Given the description of an element on the screen output the (x, y) to click on. 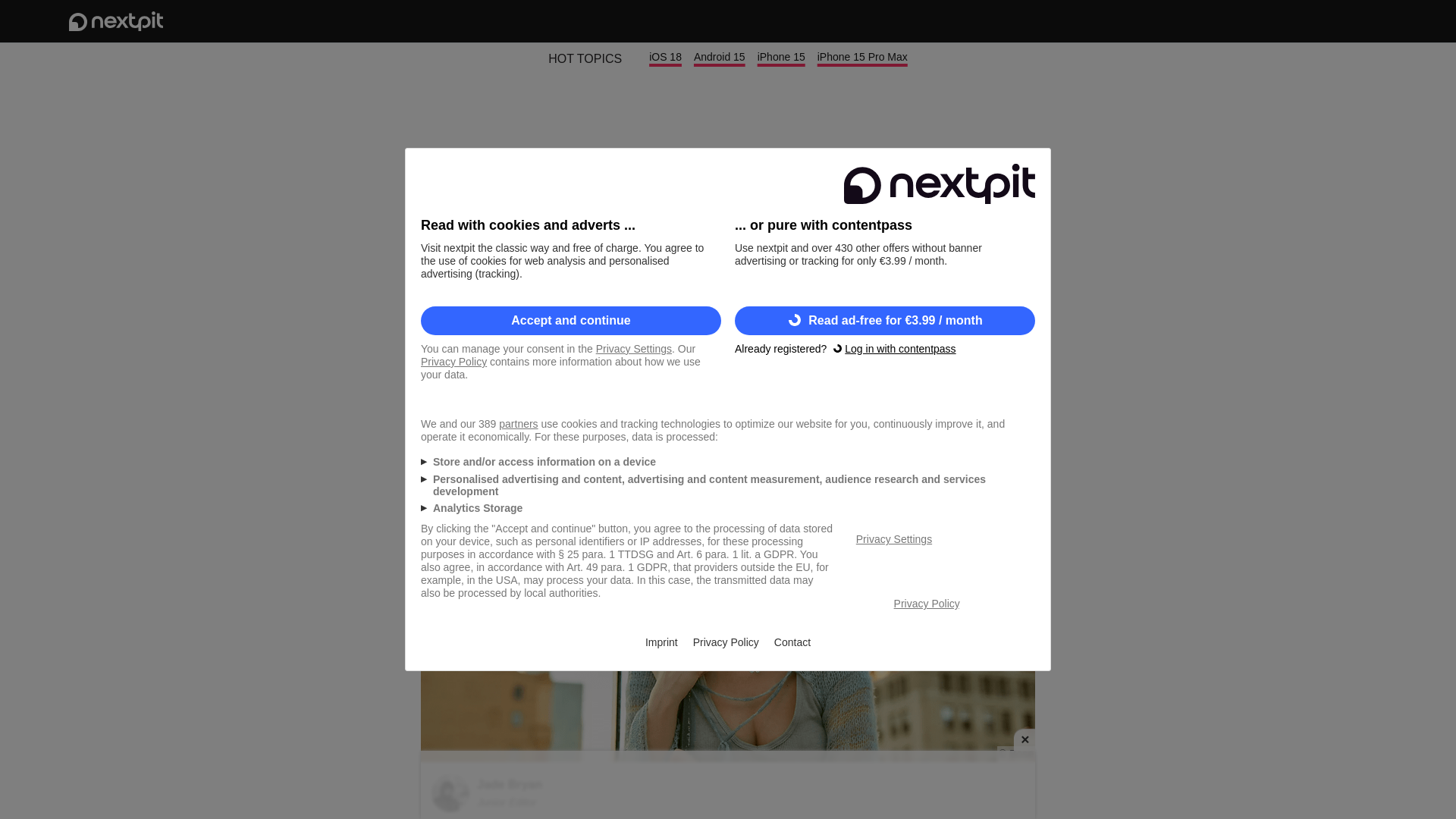
Feb 18, 2024, 7:00:00 PM (981, 397)
2 min read (452, 396)
To the nextpit homepage (115, 21)
Login (1325, 21)
